Given the description of an element on the screen output the (x, y) to click on. 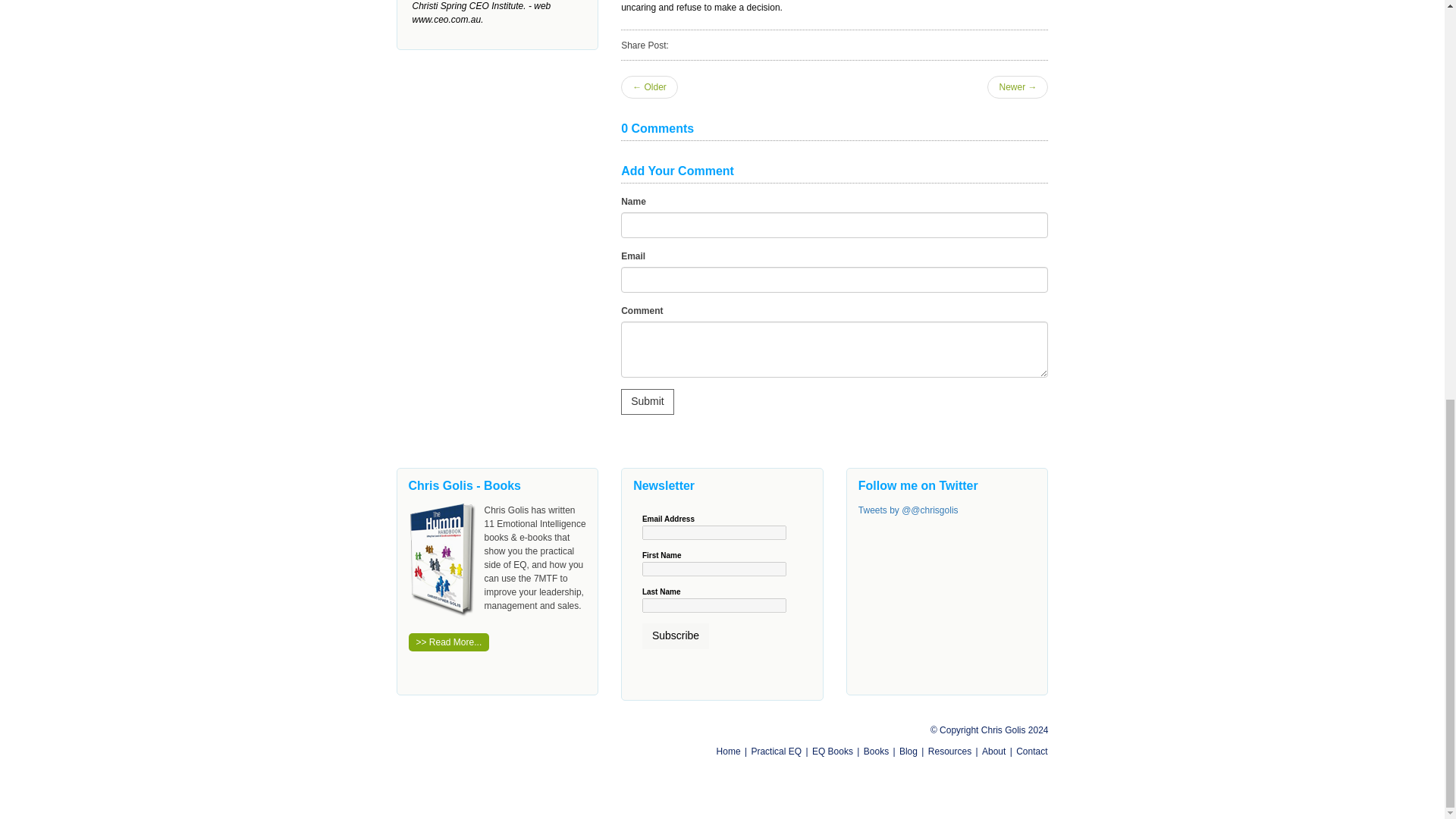
Books (875, 751)
Home (728, 751)
EQ Books (832, 751)
Blog (908, 751)
Practical EQ (776, 751)
Resources (949, 751)
Contact (1031, 751)
Subscribe (675, 636)
About (993, 751)
Submit (647, 401)
Subscribe (675, 636)
